Given the description of an element on the screen output the (x, y) to click on. 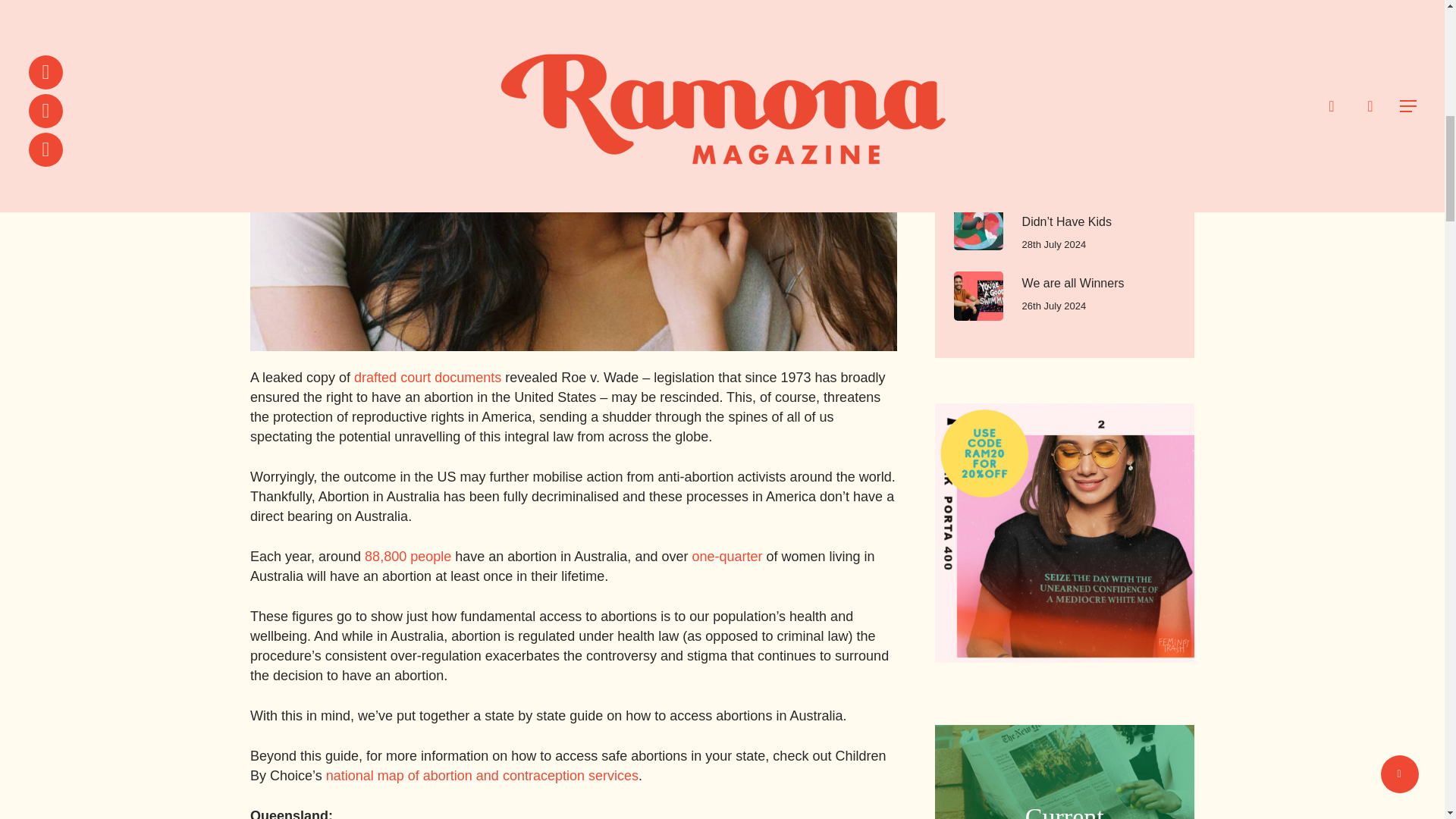
Sign up (990, 6)
one-quarter (728, 556)
drafted court documents (426, 377)
national map of abortion and contraception services (482, 775)
88,800 people (408, 556)
